Given the description of an element on the screen output the (x, y) to click on. 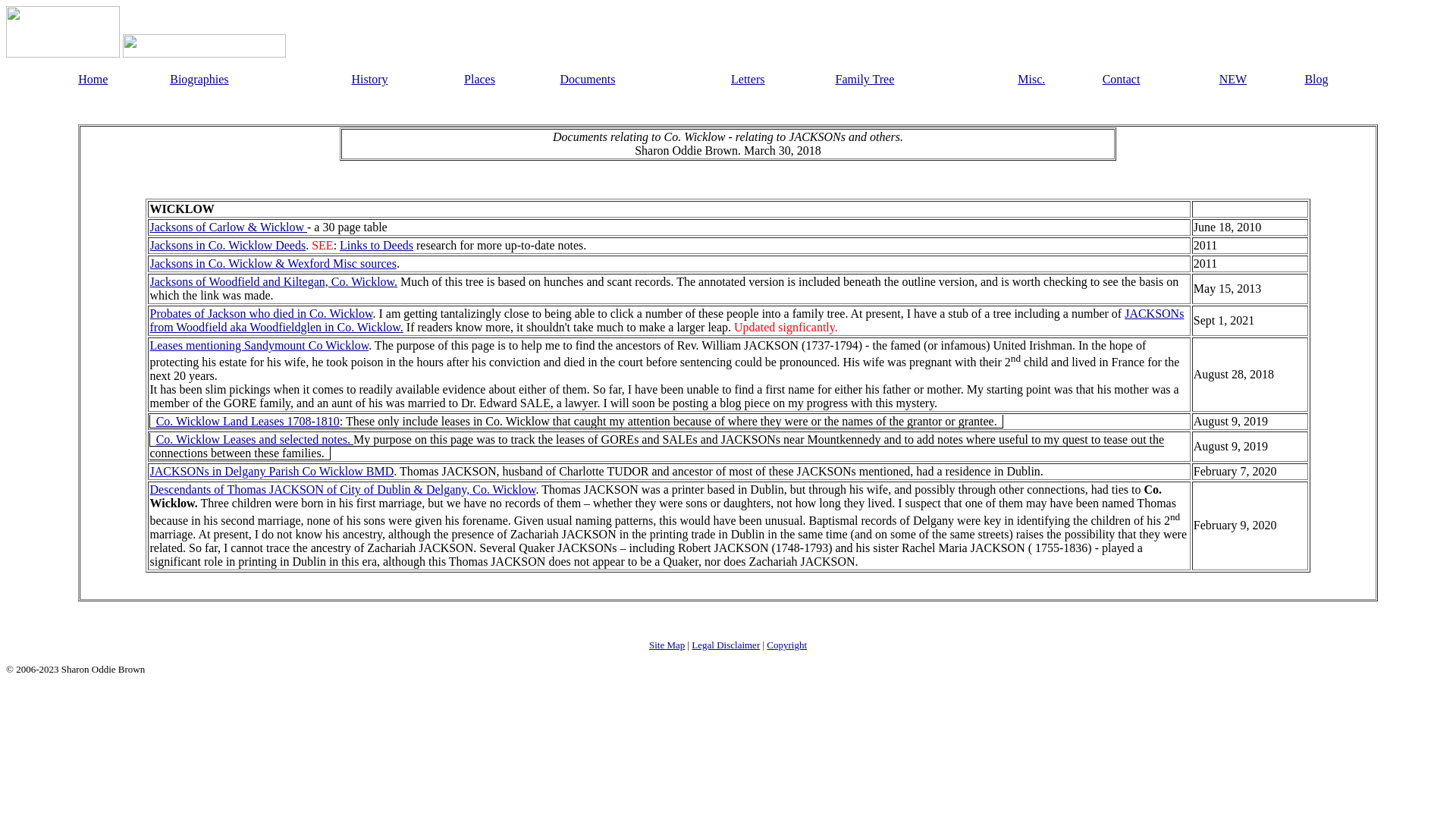
Documents (587, 78)
Misc. (1031, 78)
History (370, 78)
Co. Wicklow Leases and selected notes. (254, 439)
Family Tree (865, 78)
Places (479, 78)
Contact (1121, 78)
Legal Disclaimer (725, 644)
NEW (1233, 78)
Links to Deeds (376, 245)
